Given the description of an element on the screen output the (x, y) to click on. 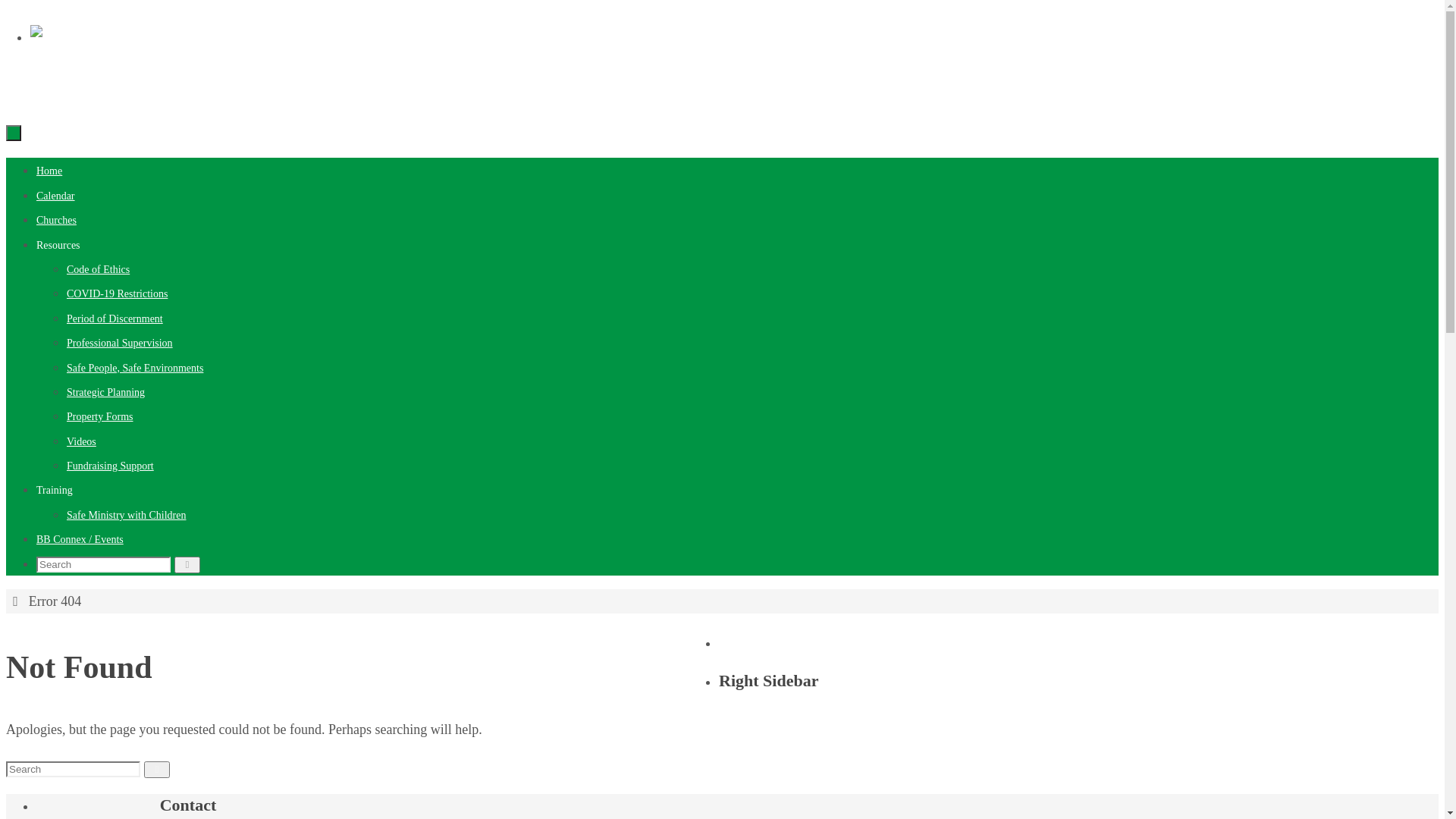
Safe Ministry with Children Element type: text (126, 514)
Period of Discernment Element type: text (114, 318)
Professional Supervision Element type: text (119, 342)
BB Connex / Events Element type: text (79, 539)
Search Element type: text (187, 564)
Safe People, Safe Environments Element type: text (134, 367)
Skip to content Element type: text (5, 5)
Videos Element type: text (81, 441)
COVID-19 Restrictions Element type: text (116, 293)
  Element type: text (13, 131)
Training Element type: text (54, 489)
Strategic Planning Element type: text (105, 392)
Churches Element type: text (56, 219)
Calendar Element type: text (55, 195)
  Element type: text (13, 133)
Resources Element type: text (58, 245)
Search Element type: text (157, 769)
Home Element type: text (49, 170)
Code of Ethics Element type: text (97, 269)
Fundraising Support Element type: text (109, 465)
Property Forms Element type: text (99, 416)
